Given the description of an element on the screen output the (x, y) to click on. 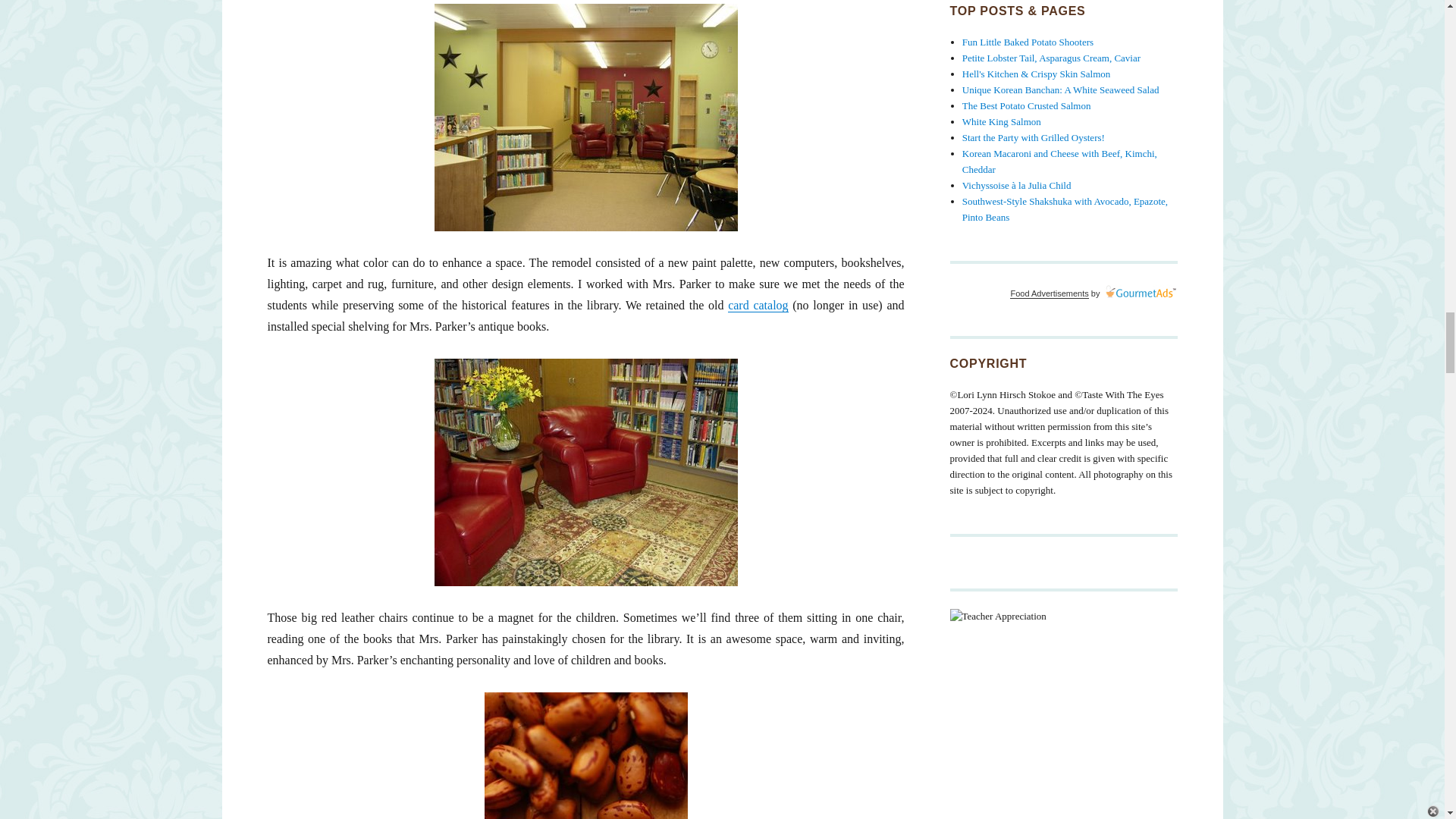
Food Advertisements (1048, 293)
card catalog (757, 305)
